Given the description of an element on the screen output the (x, y) to click on. 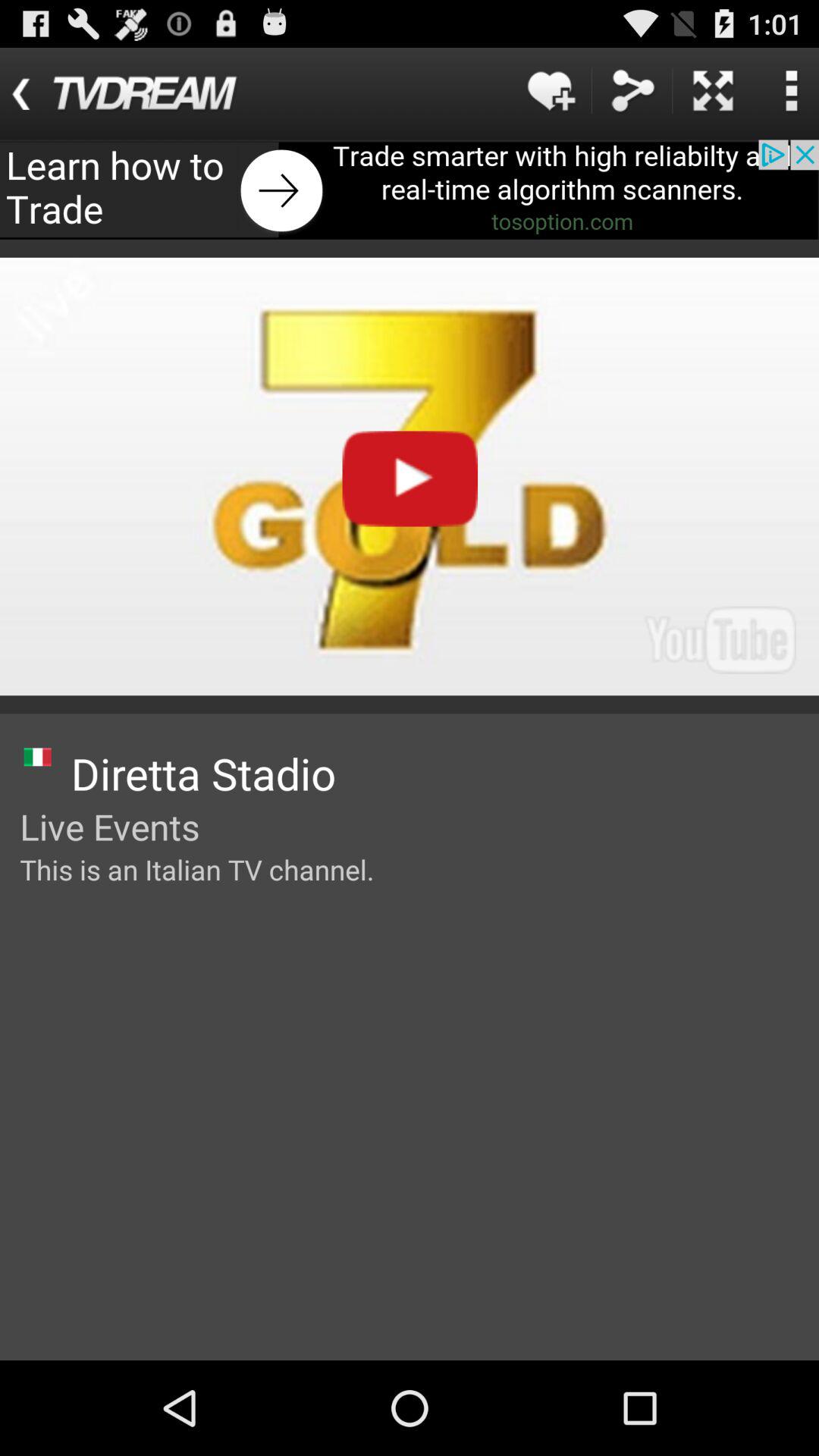
wide screen (712, 90)
